Given the description of an element on the screen output the (x, y) to click on. 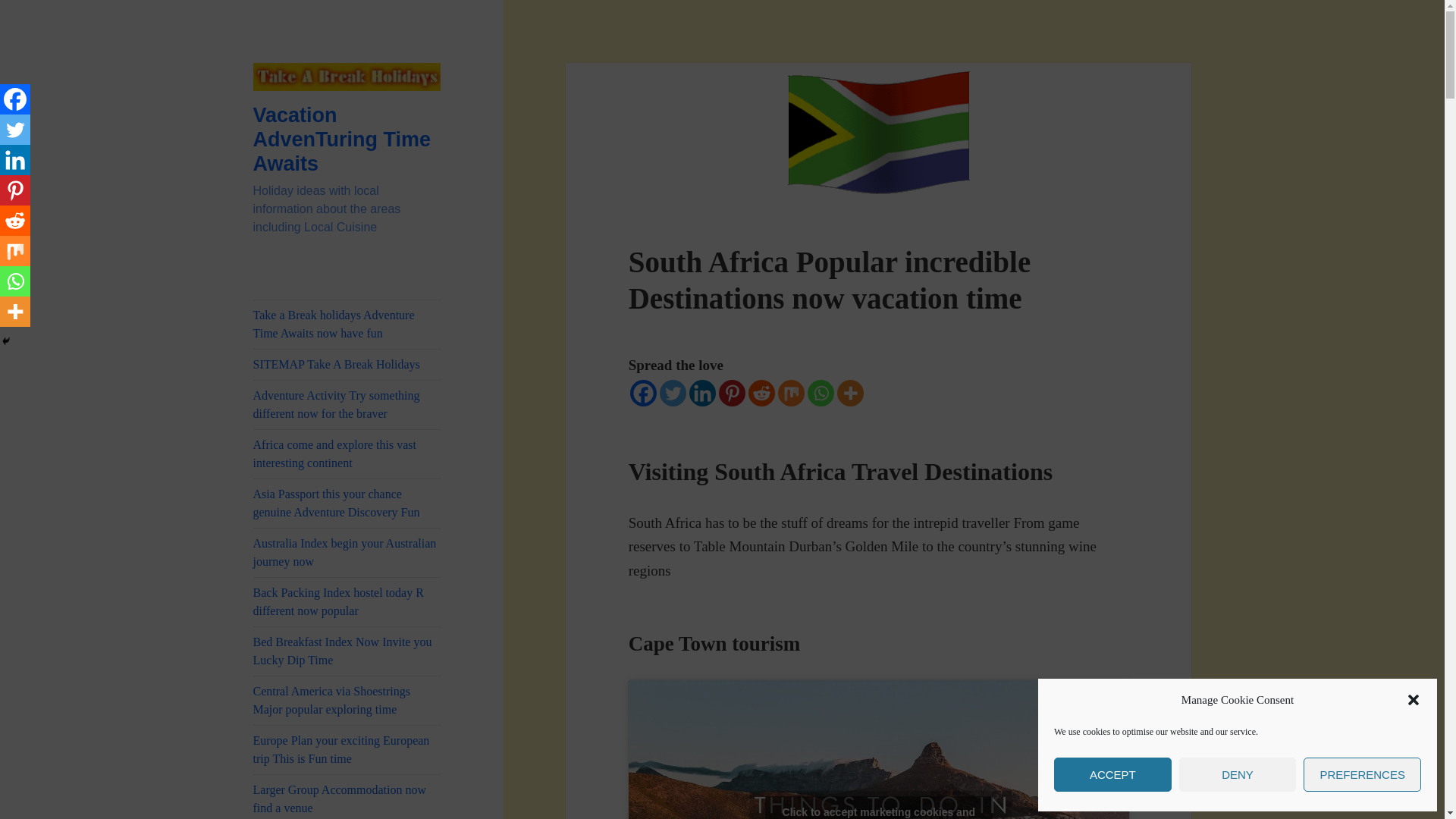
Take a Break holidays Adventure Time Awaits now have fun (347, 324)
Facebook (15, 99)
Europe Plan your exciting European trip This is Fun time (347, 749)
Vacation AdvenTuring Time Awaits (341, 139)
Australia Index begin your Australian journey now (347, 552)
SITEMAP Take A Break Holidays (347, 364)
Larger Group Accommodation now find a venue (347, 796)
Twitter (672, 392)
PREFERENCES (1362, 774)
Pinterest (732, 392)
Bed Breakfast Index Now Invite you Lucky Dip Time (347, 651)
Central America via Shoestrings Major popular exploring time (347, 700)
Reddit (761, 392)
More (850, 392)
